Given the description of an element on the screen output the (x, y) to click on. 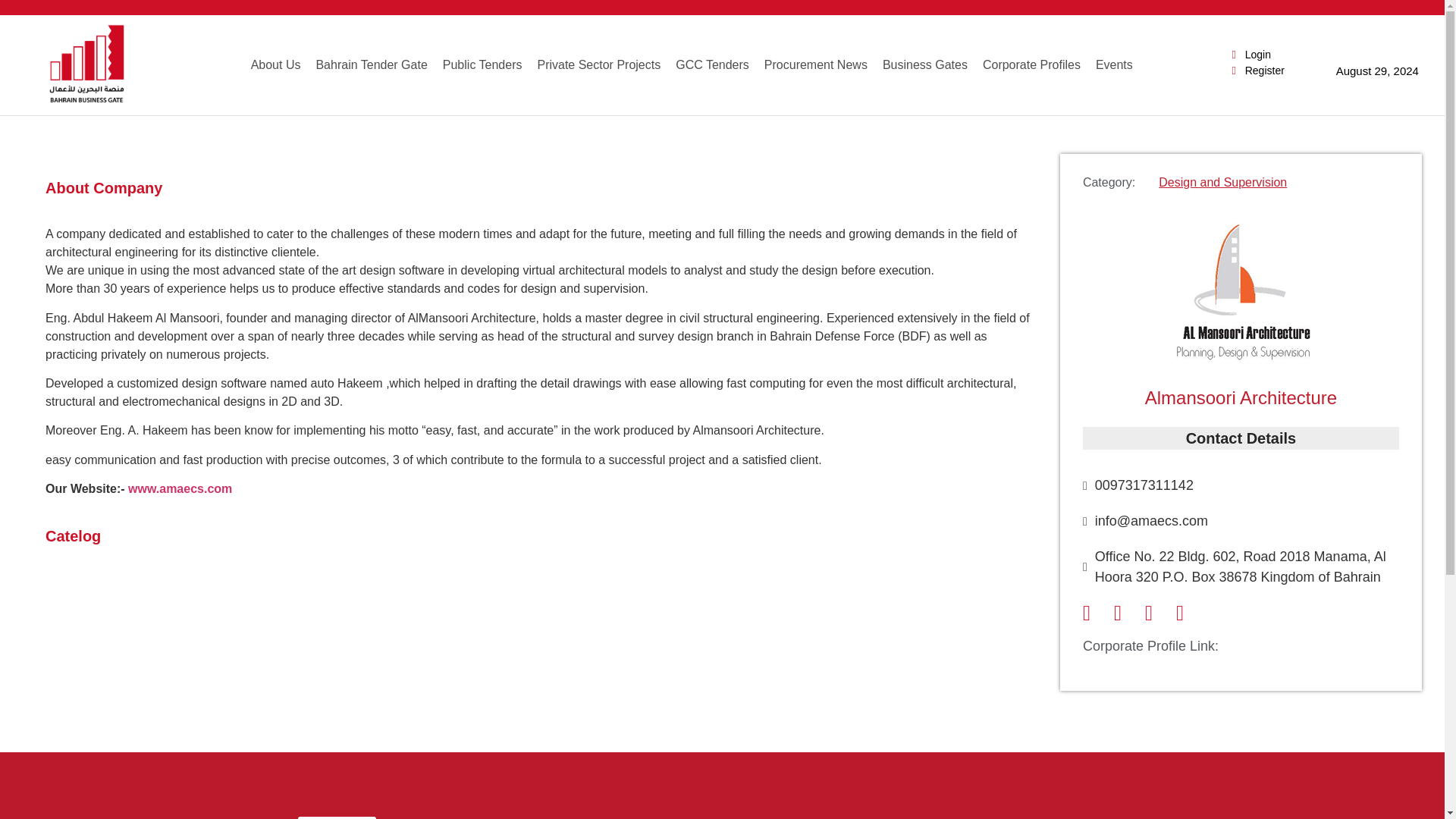
Business Gates (925, 64)
Bahrain Tender Gate (370, 64)
GCC Tenders (712, 64)
www.amaecs.com (179, 488)
About Us (275, 64)
Register (1255, 70)
Events (1113, 64)
Public Tenders (482, 64)
Procurement News (816, 64)
Register (336, 817)
